Given the description of an element on the screen output the (x, y) to click on. 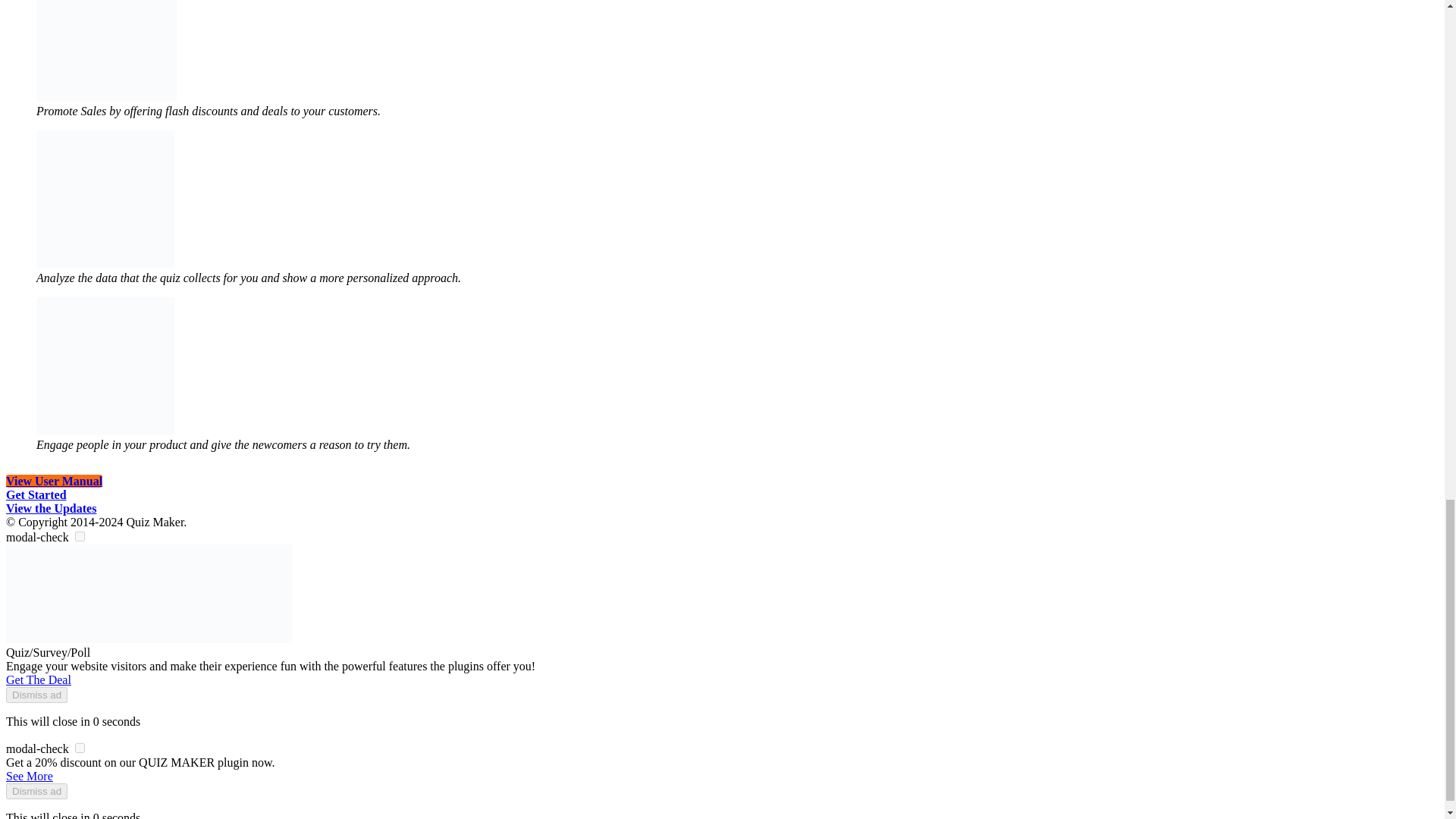
on (79, 747)
Get Started (35, 494)
View the Updates (50, 508)
Dismiss ad (35, 790)
View User Manual (53, 481)
Dismiss ad (35, 694)
Get The Deal (38, 679)
on (79, 536)
See More (28, 775)
